Given the description of an element on the screen output the (x, y) to click on. 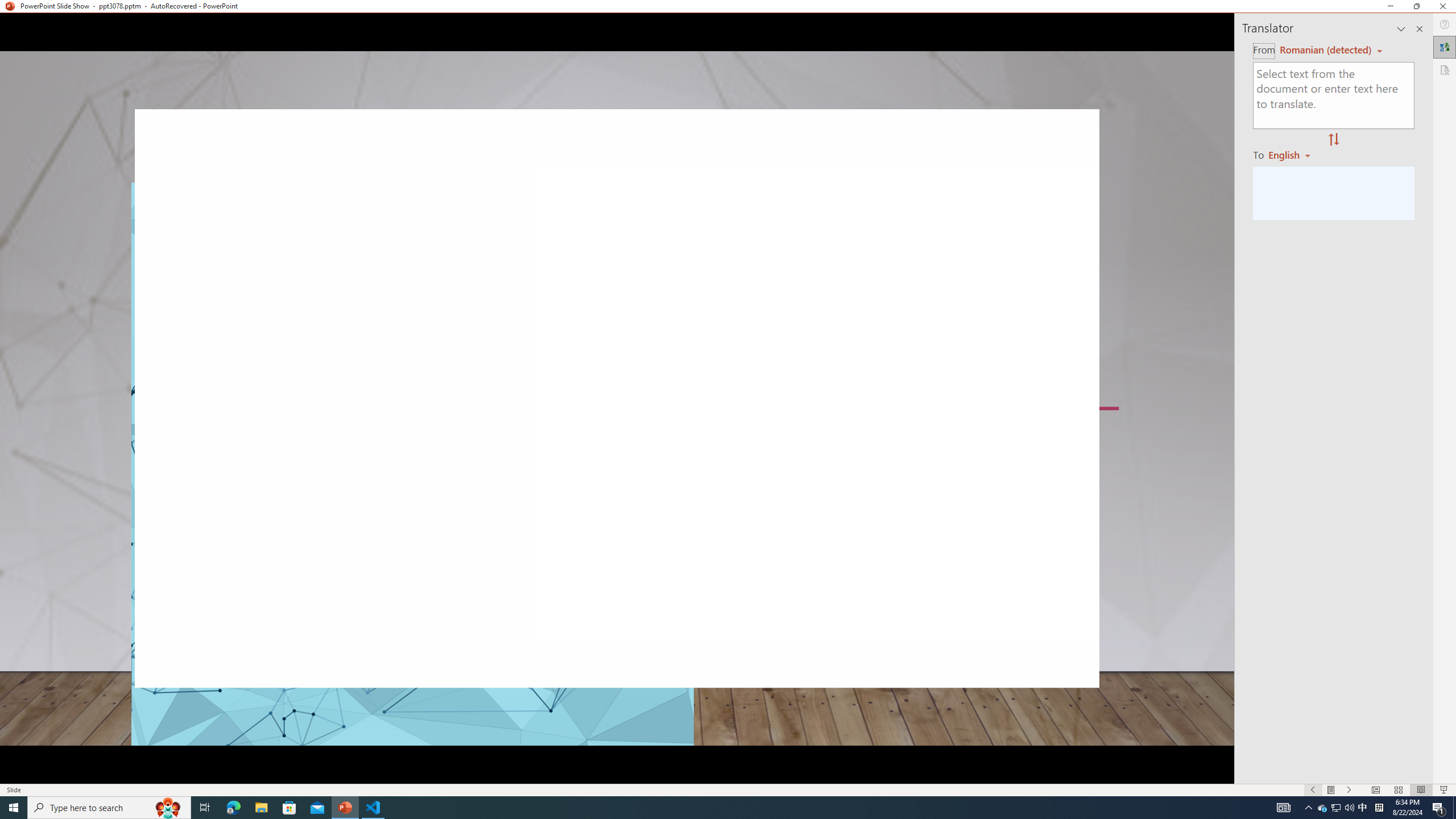
Romanian (1293, 154)
Swap "from" and "to" languages. (1333, 140)
Czech (detected) (1323, 50)
Menu On (1331, 790)
